Given the description of an element on the screen output the (x, y) to click on. 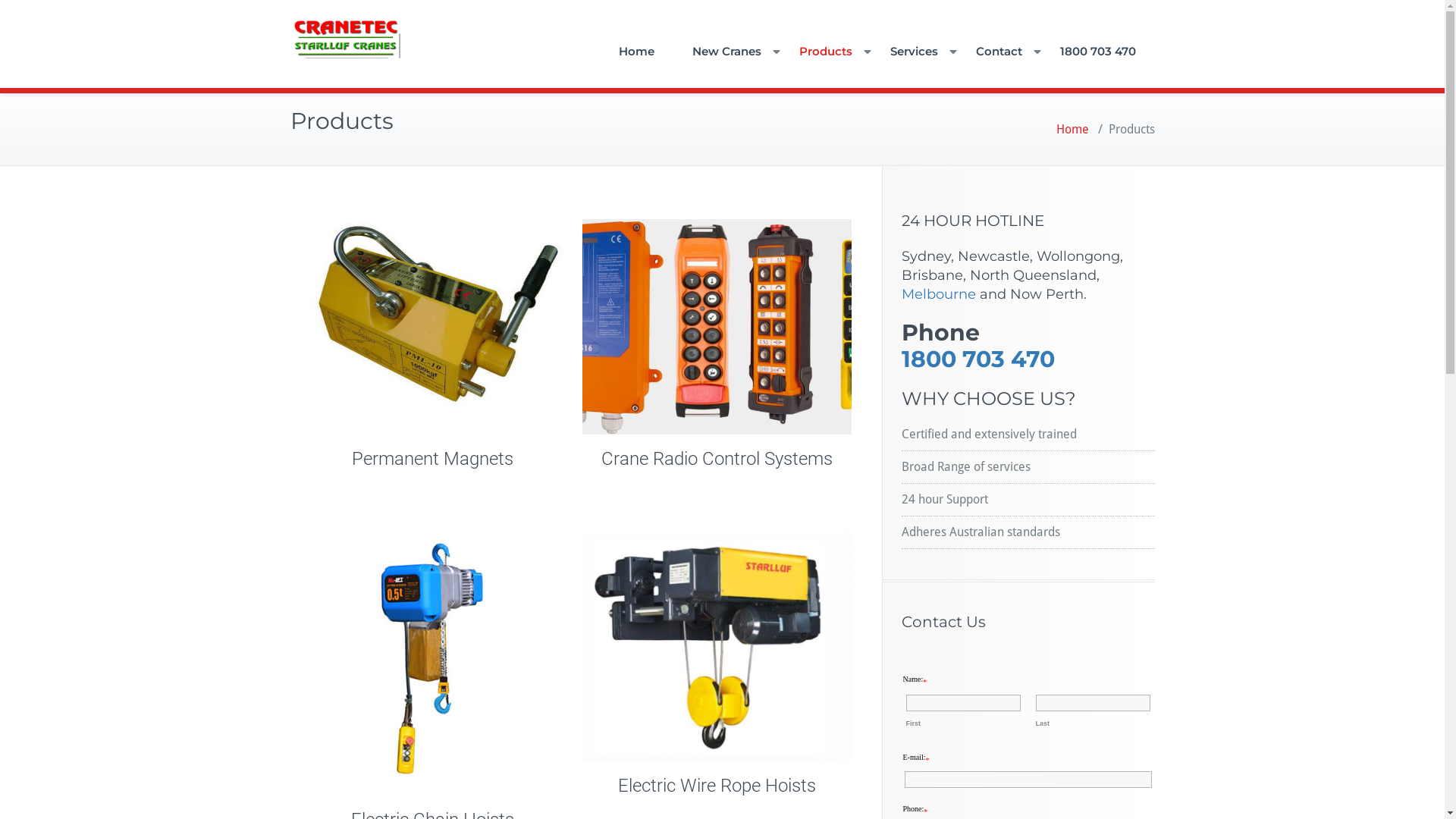
Products Element type: text (824, 51)
1800 703 470 Element type: text (1097, 51)
1800 703 470 Element type: text (977, 359)
Electric Wire Rope Hoists Element type: text (716, 785)
Contact Element type: text (999, 51)
New Cranes Element type: text (726, 51)
Remotes Element type: hover (716, 326)
Crane Radio Control Systems Element type: text (715, 458)
Permanent Magnets Element type: text (432, 458)
Home Element type: text (1071, 129)
Melbourne Element type: text (937, 293)
Services Element type: text (913, 51)
Home Element type: text (635, 51)
